Given the description of an element on the screen output the (x, y) to click on. 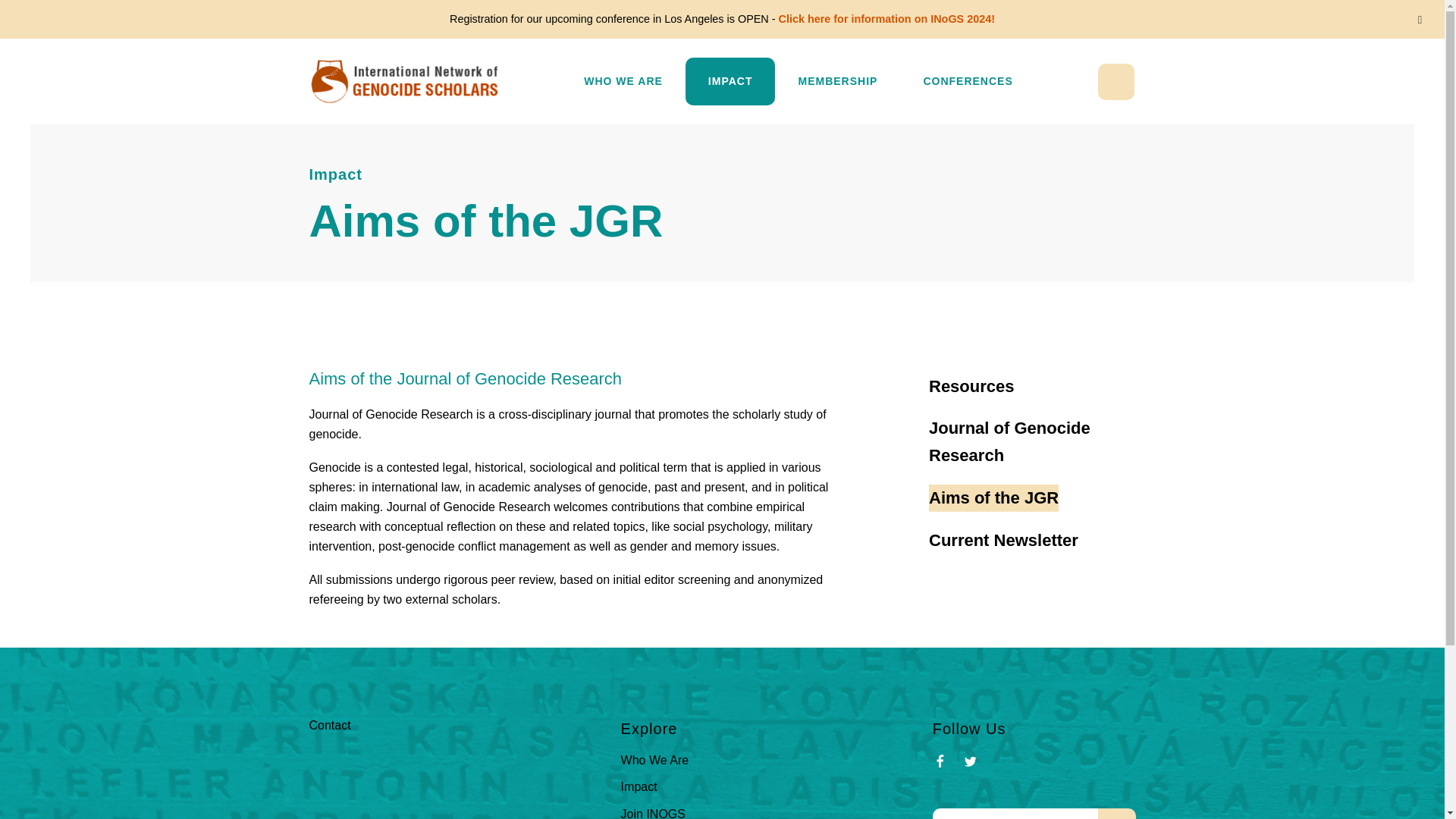
alert close (1420, 19)
Join INOGS (653, 813)
Click here for information on INoGS 2024! (886, 19)
Who We Are (654, 759)
search (1116, 813)
CONFERENCES (967, 81)
WHO WE ARE (622, 81)
search (1116, 813)
Aims of the JGR (993, 497)
Resources (971, 386)
Contact (329, 725)
MEMBERSHIP (836, 81)
Journal of Genocide Research (1031, 441)
IMPACT (730, 81)
Current Newsletter (1003, 540)
